Given the description of an element on the screen output the (x, y) to click on. 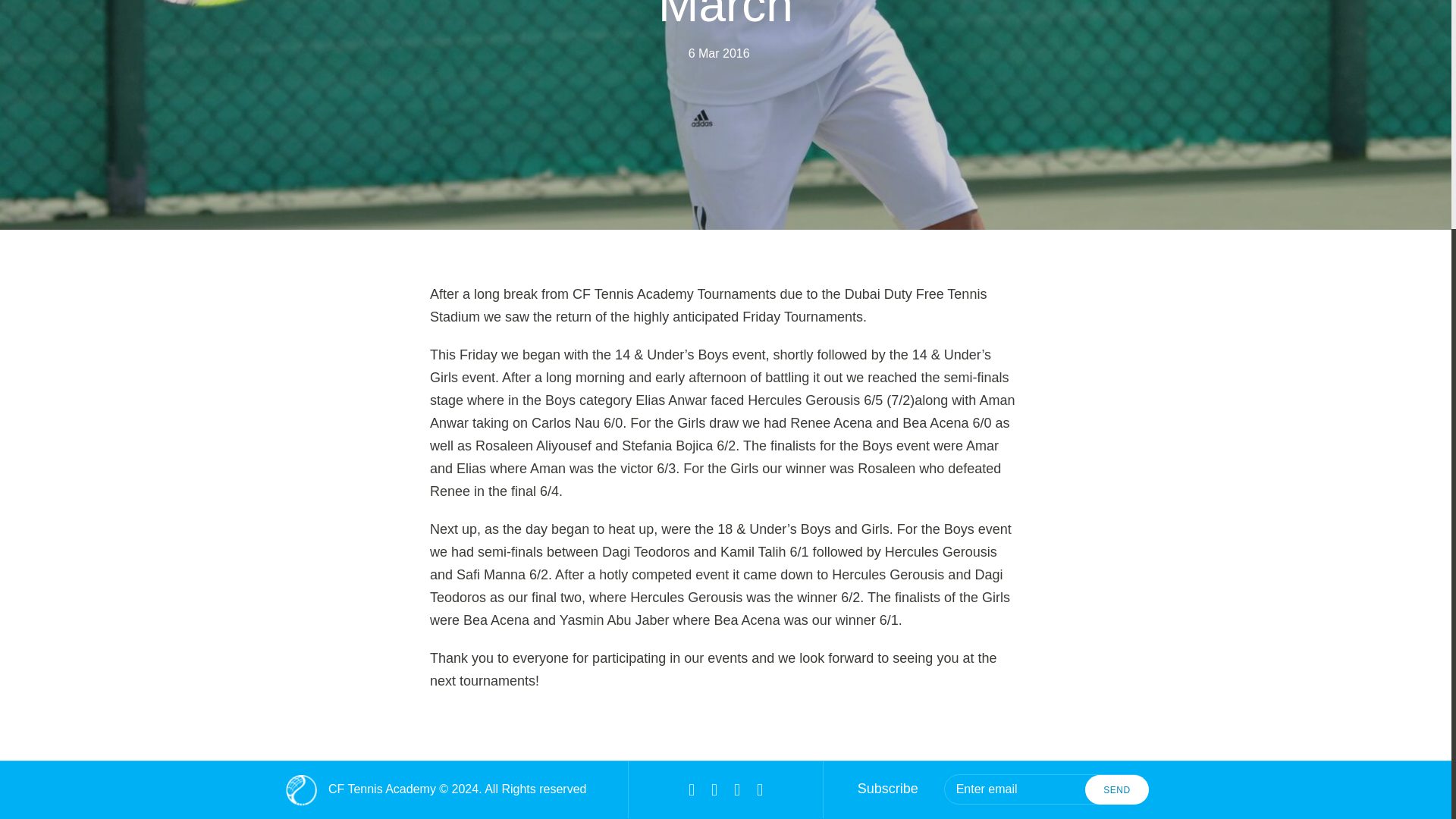
Send (1116, 789)
